Given the description of an element on the screen output the (x, y) to click on. 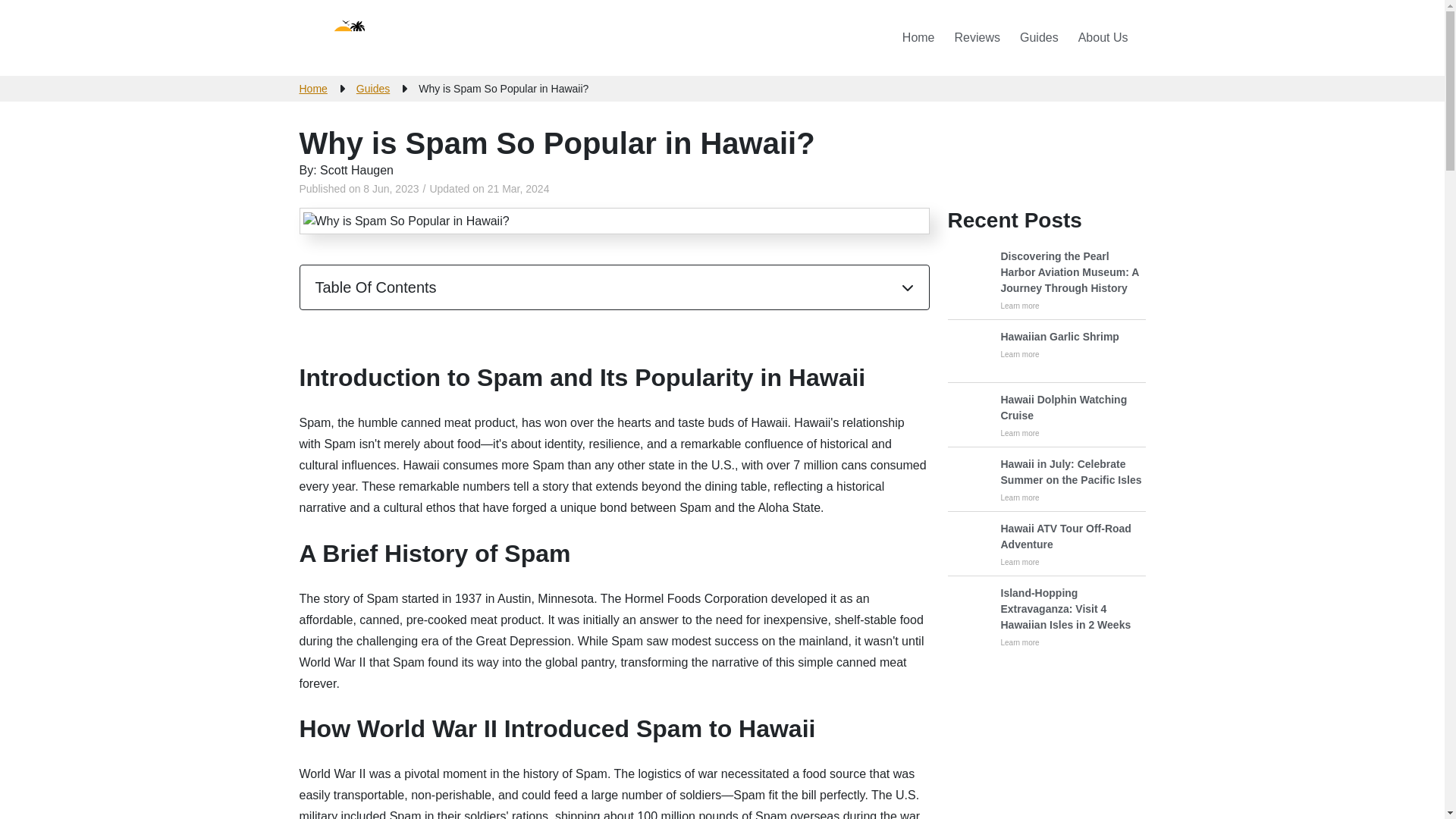
Home (918, 37)
Guides (1038, 37)
Hawaii Dolphin Watching Cruise (1073, 432)
Hawaii in July: Celebrate Summer on the Pacific Isles (1073, 497)
Nani Hawaii (394, 38)
Guides (373, 88)
Reviews (977, 37)
About Us (1102, 37)
Hawaii in July: Celebrate Summer on the Pacific Isles (1046, 544)
Guides (1073, 472)
Hawaiian Garlic Shrimp (373, 88)
